Given the description of an element on the screen output the (x, y) to click on. 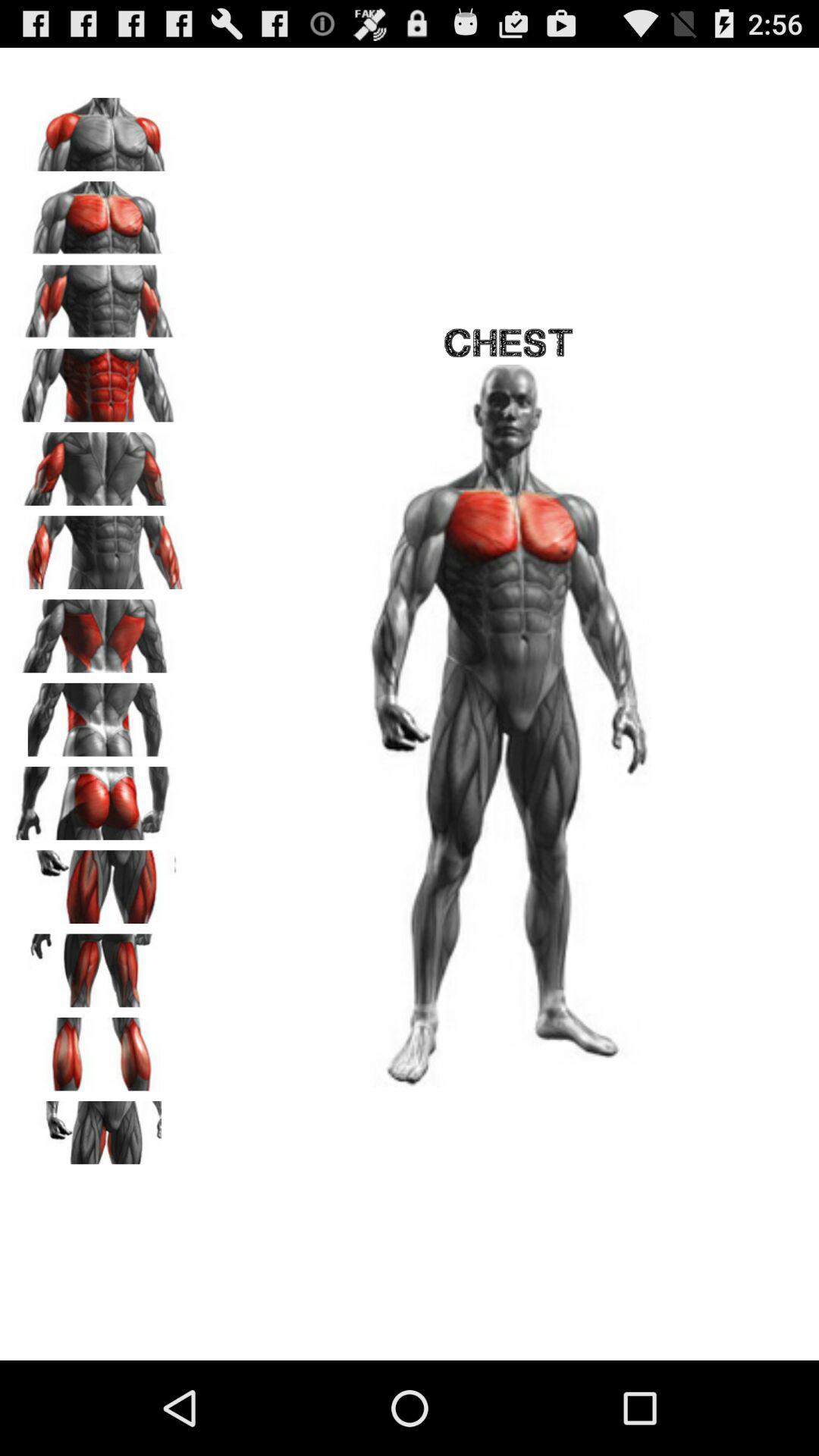
select body part (99, 1048)
